Given the description of an element on the screen output the (x, y) to click on. 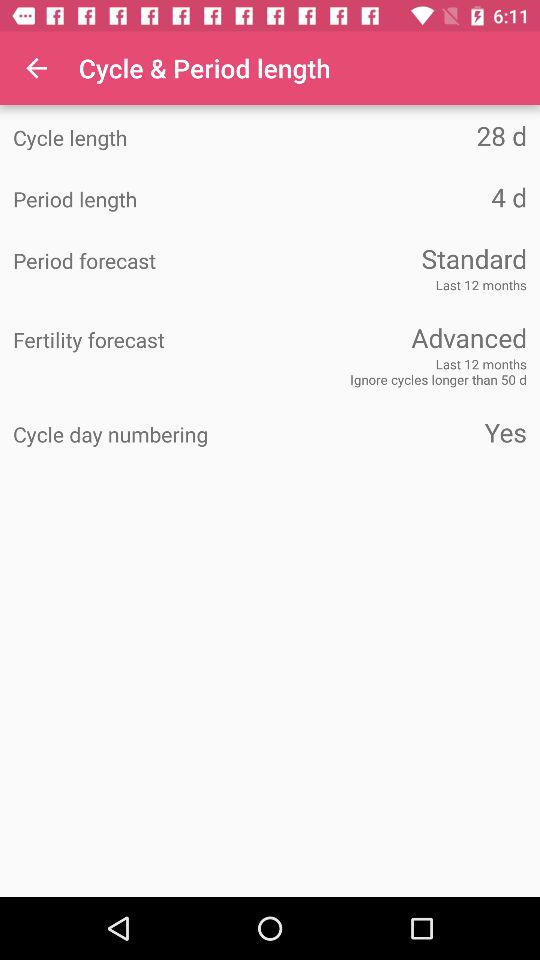
turn on the icon above the standard item (398, 196)
